Given the description of an element on the screen output the (x, y) to click on. 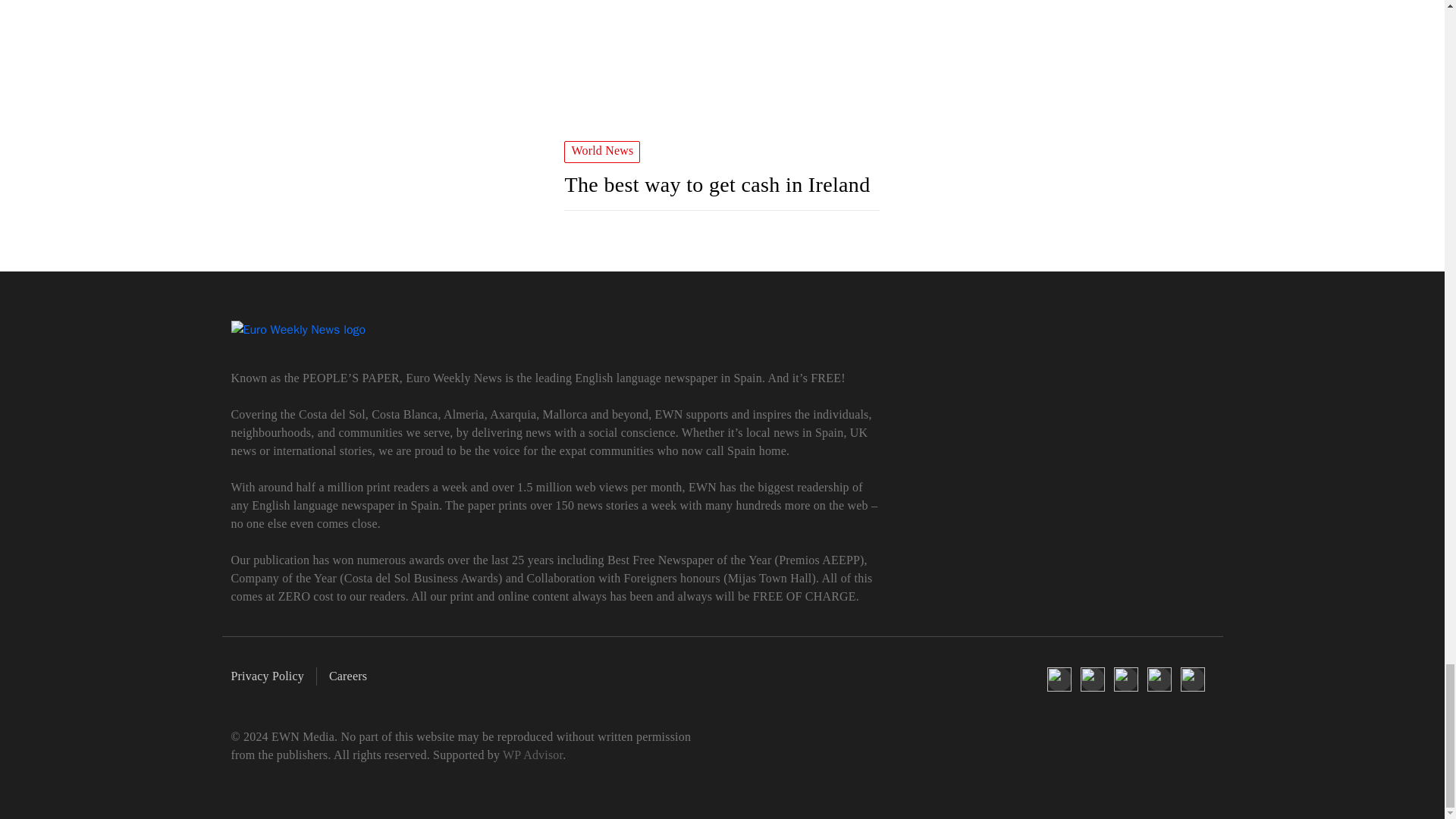
WP Advisor - WordPress done right! (532, 754)
